Given the description of an element on the screen output the (x, y) to click on. 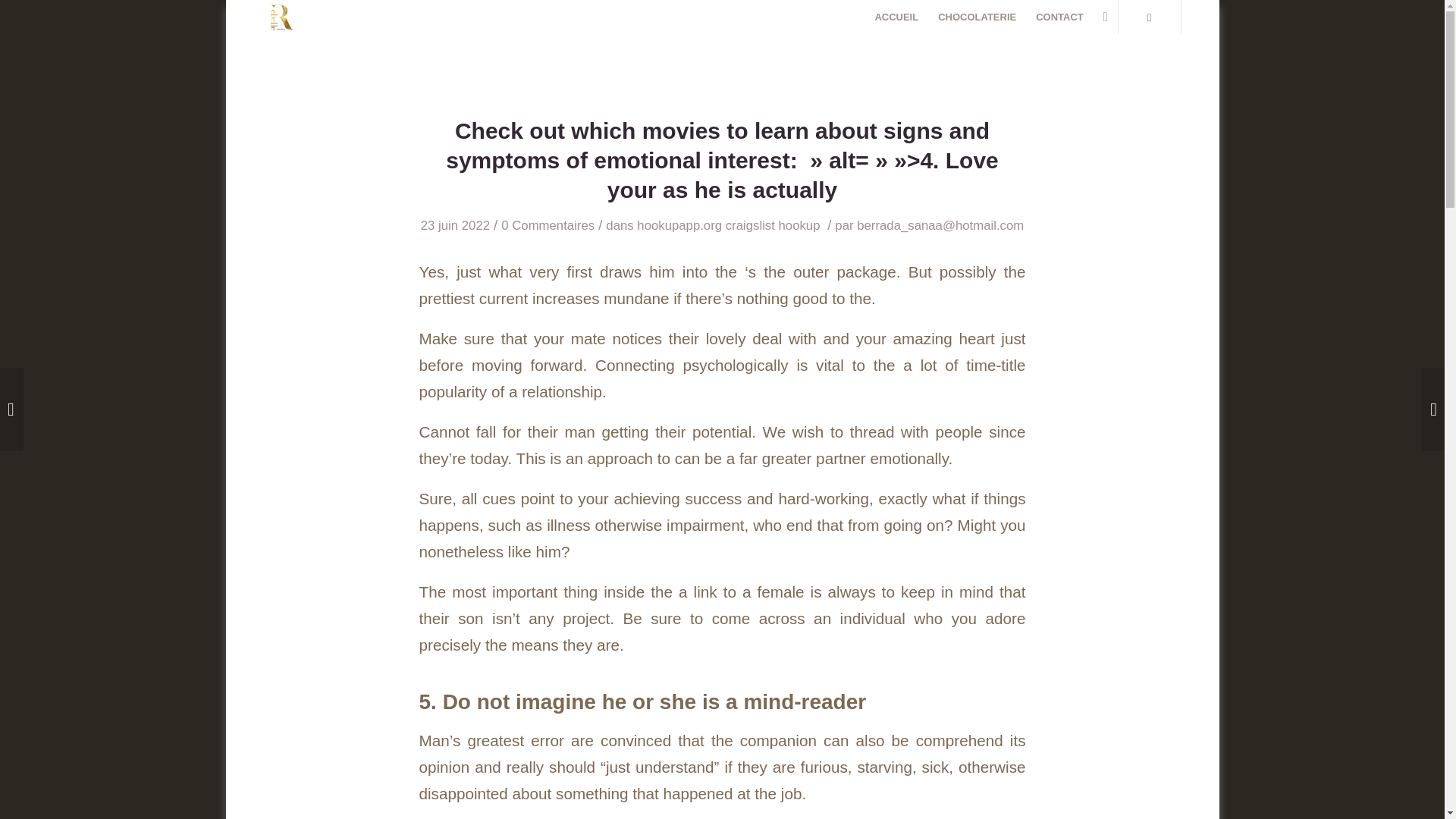
ACCUEIL (896, 17)
hookupapp.org craigslist hookup (728, 225)
0 Commentaires (547, 225)
